Given the description of an element on the screen output the (x, y) to click on. 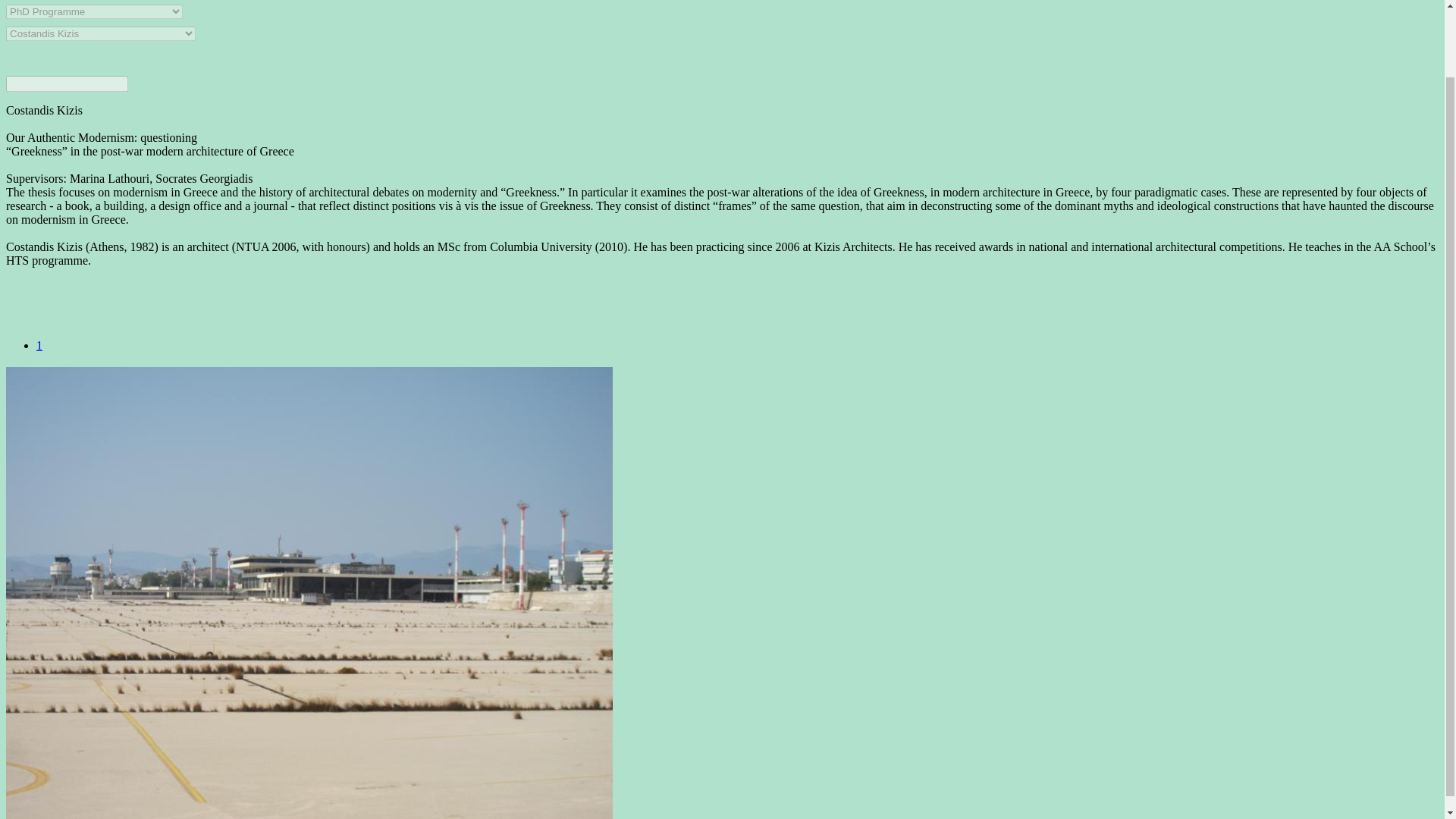
1 (39, 345)
Next Image (39, 345)
